Given the description of an element on the screen output the (x, y) to click on. 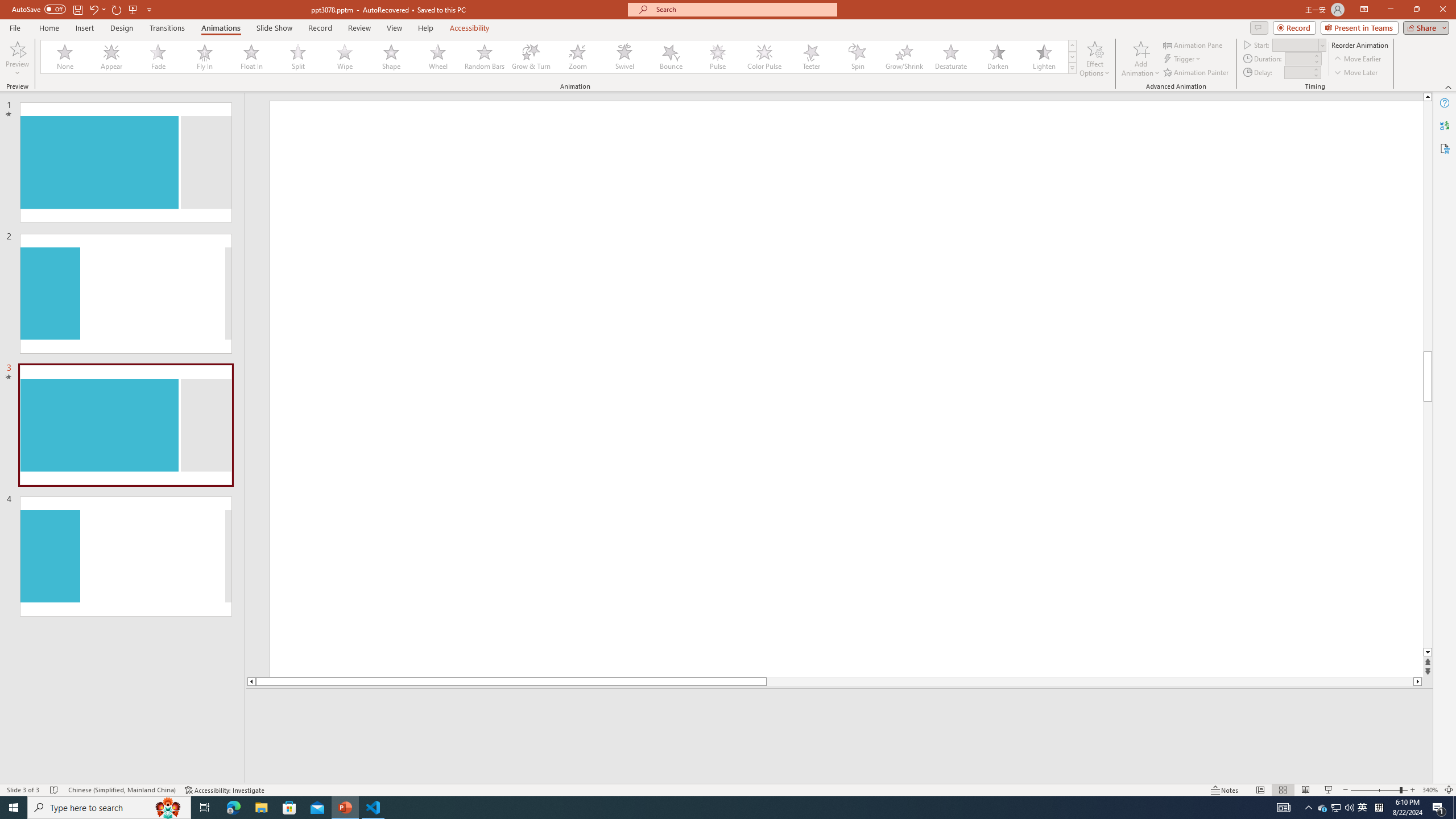
Float In (251, 56)
Add Animation (1141, 58)
Animation Pane (1193, 44)
Bounce (670, 56)
